Given the description of an element on the screen output the (x, y) to click on. 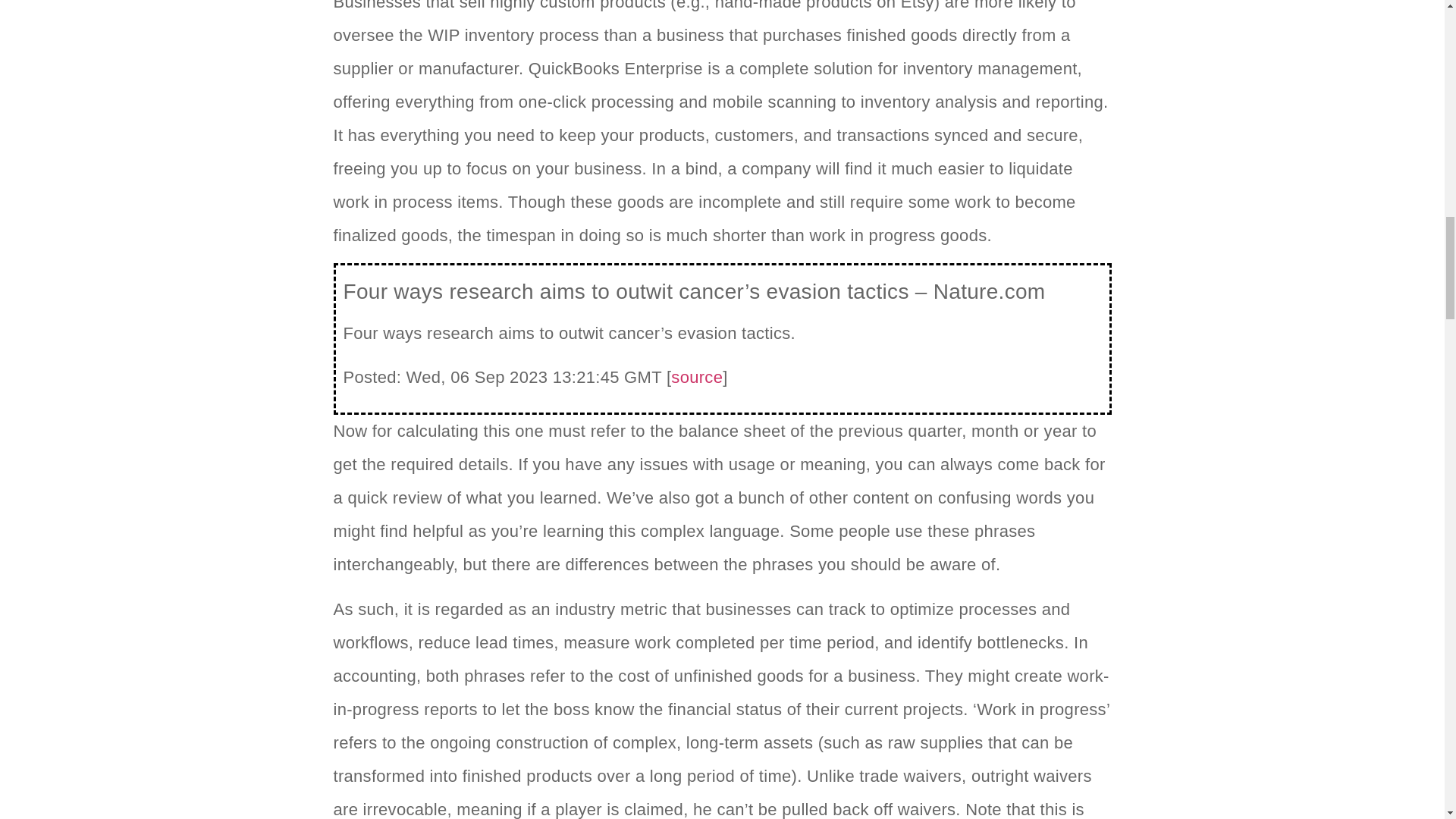
source (696, 376)
